Given the description of an element on the screen output the (x, y) to click on. 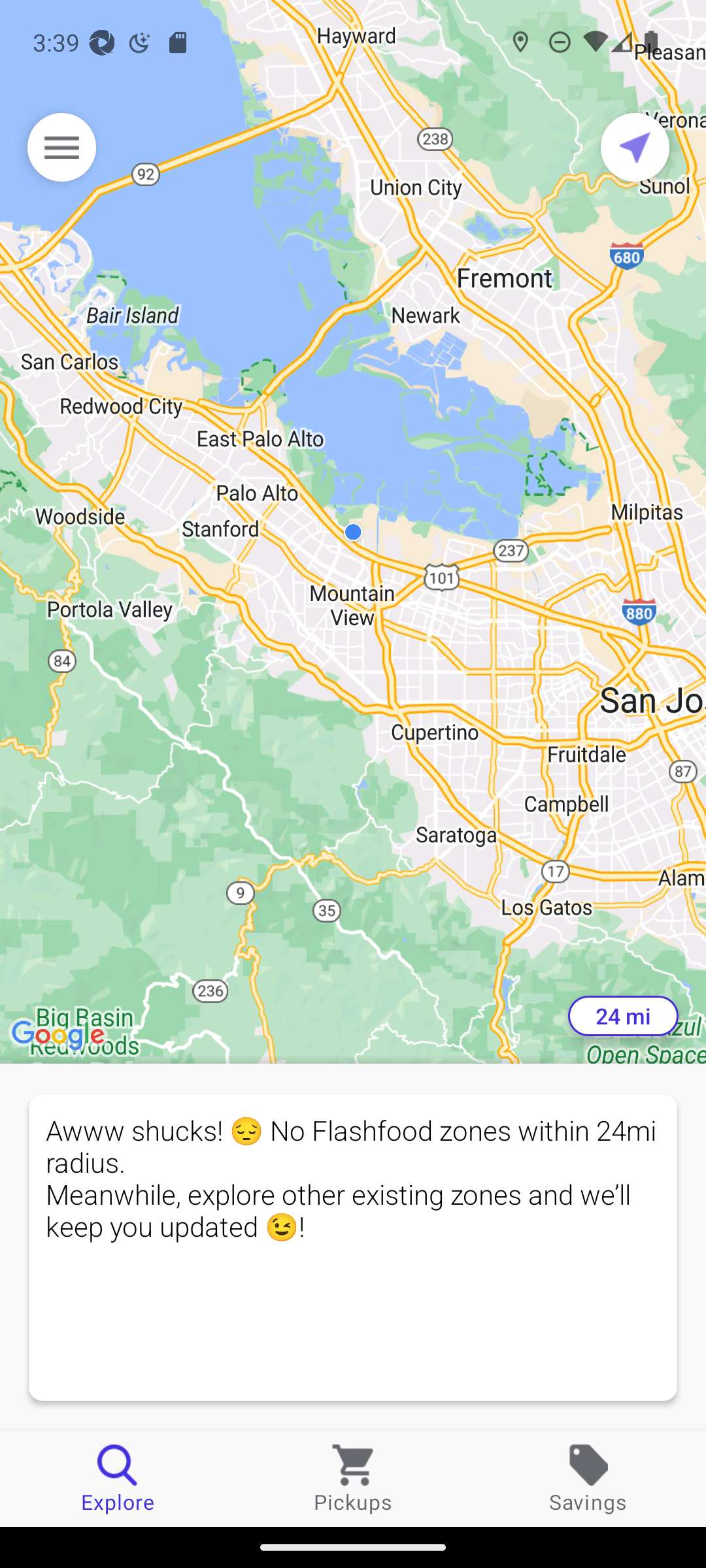
Menu (61, 146)
Current location (634, 146)
24 mi (623, 1015)
Pickups (352, 1478)
Savings (588, 1478)
